Given the description of an element on the screen output the (x, y) to click on. 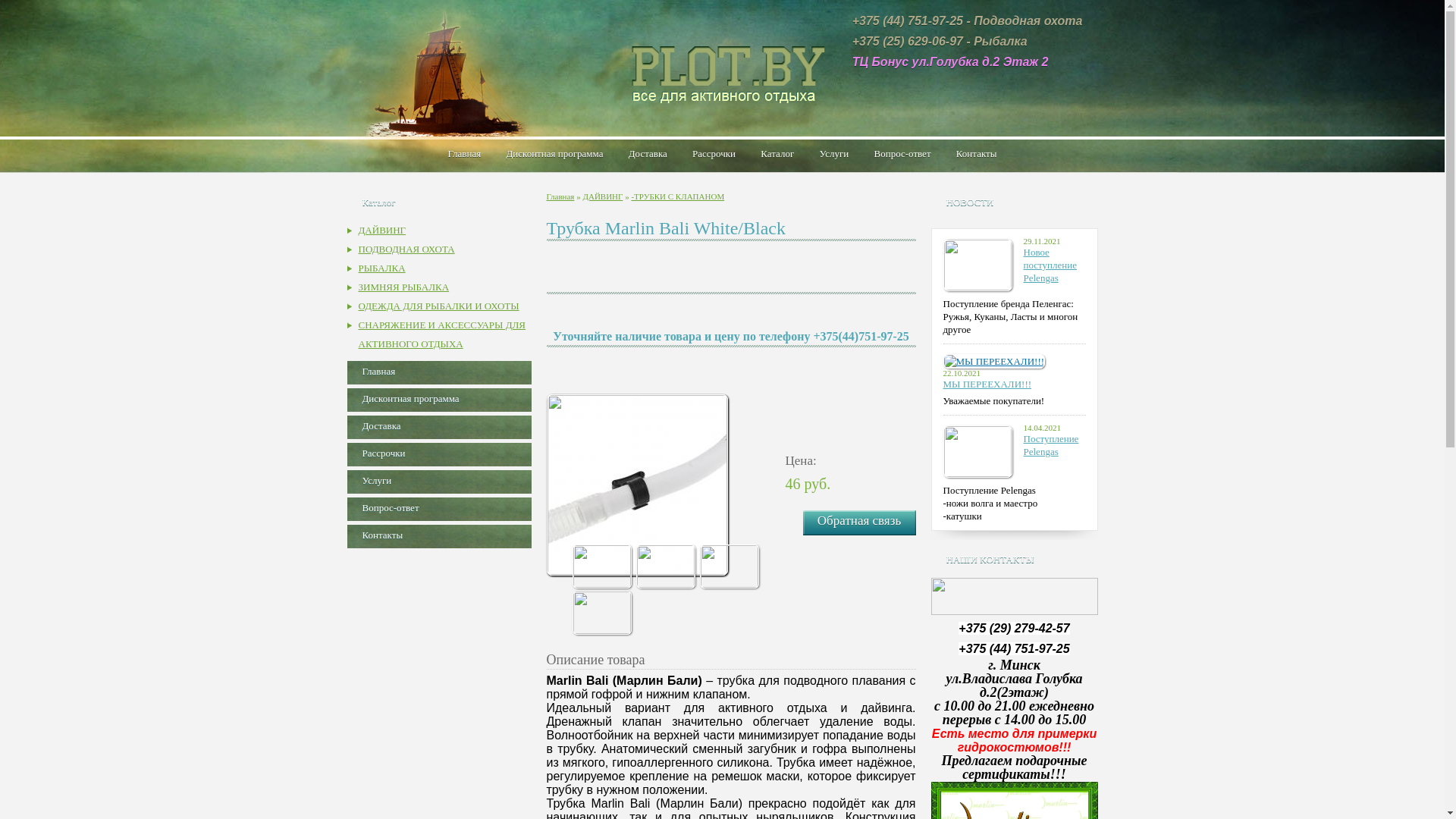
PLOT.BY Element type: hover (721, 69)
